Given the description of an element on the screen output the (x, y) to click on. 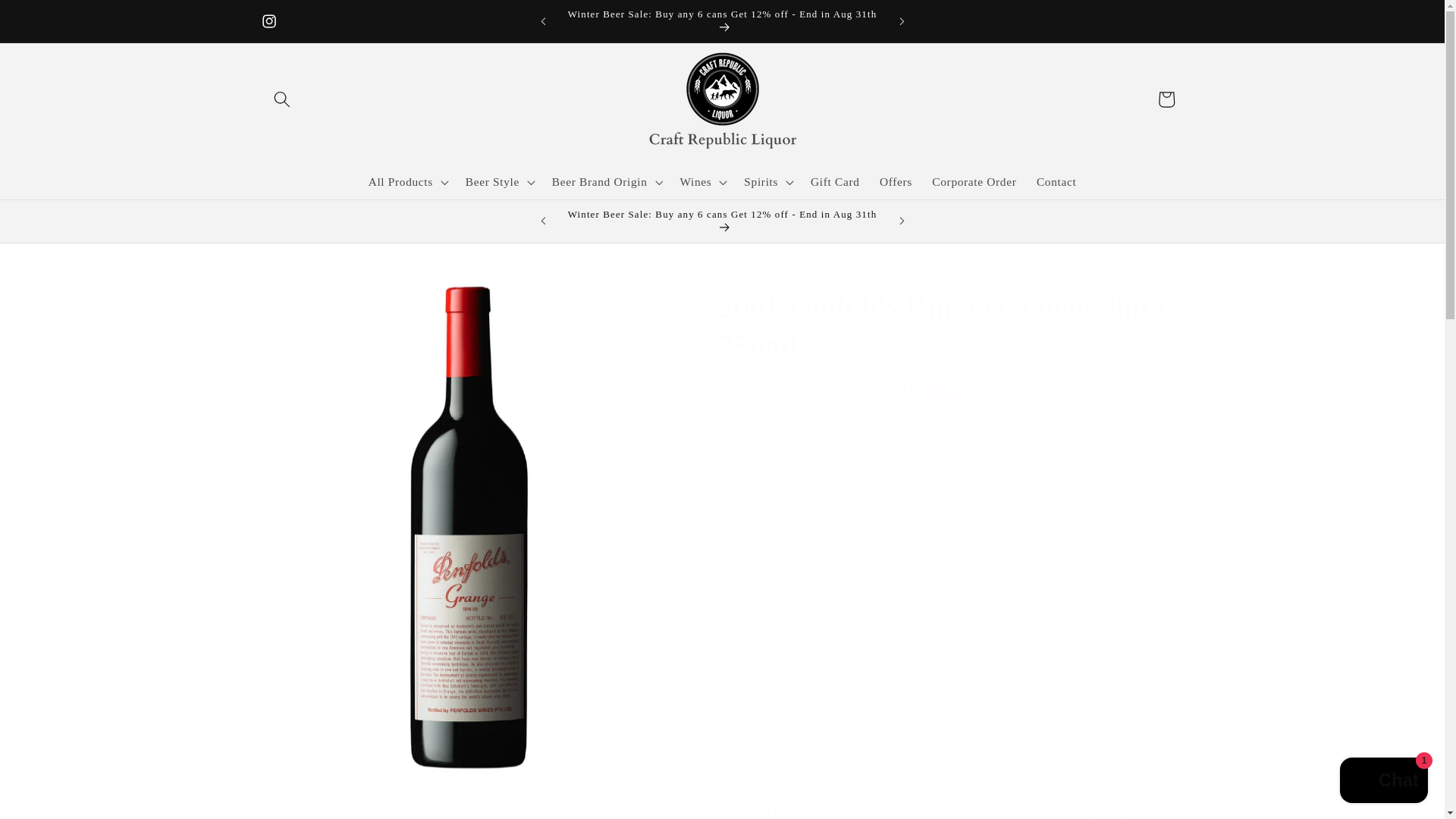
Skip to content (50, 19)
Instagram (269, 20)
1 (771, 474)
Shopify online store chat (1383, 781)
